Given the description of an element on the screen output the (x, y) to click on. 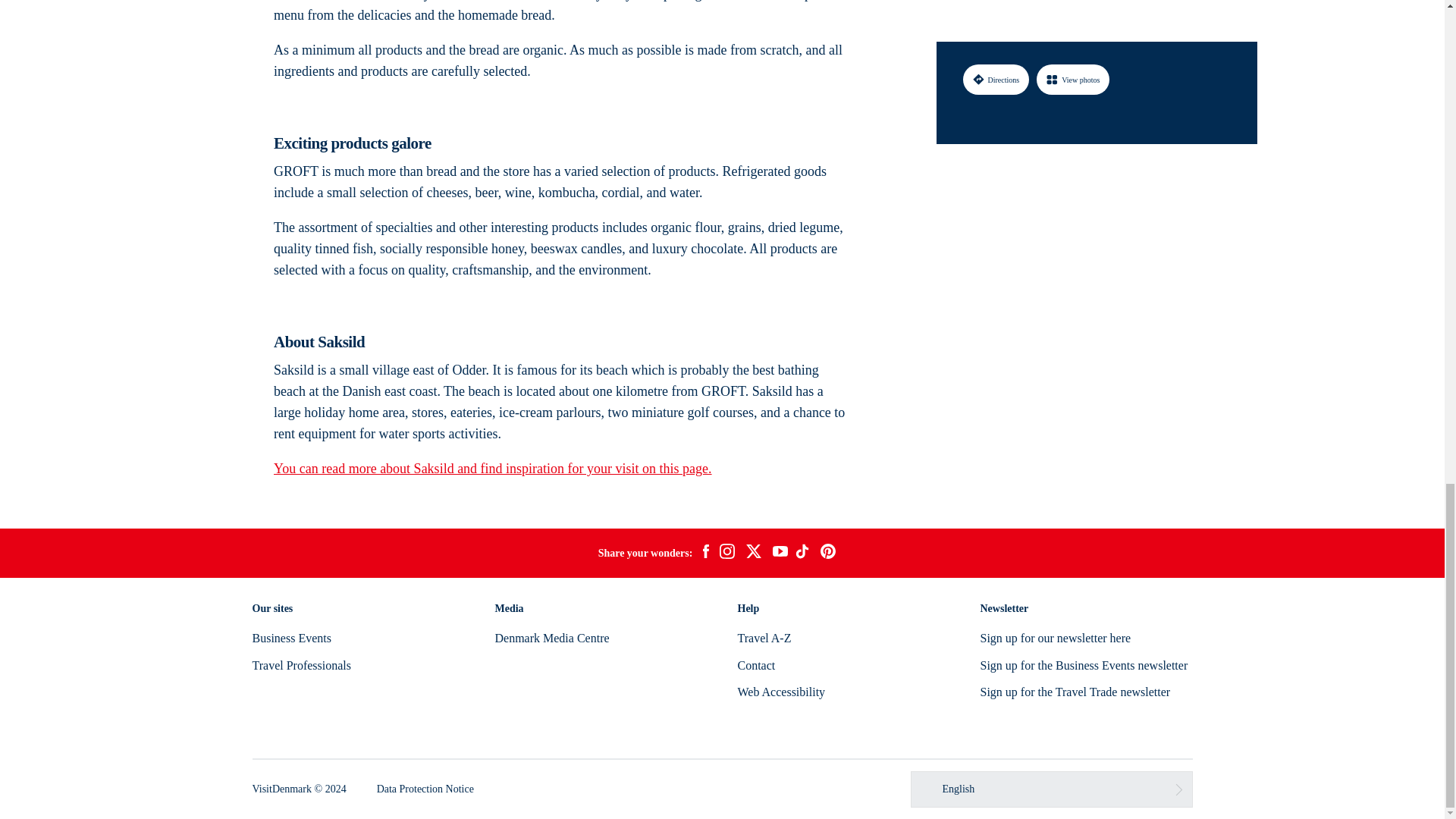
pinterest (828, 553)
Business Events (290, 637)
Contact (755, 665)
Web Accessibility (780, 691)
Denmark Media Centre (551, 637)
Data Protection Notice (425, 789)
Sign up for the Travel Trade newsletter (1074, 691)
Travel A-Z (763, 637)
Travel Professionals (300, 665)
Data Protection Notice (425, 789)
